Given the description of an element on the screen output the (x, y) to click on. 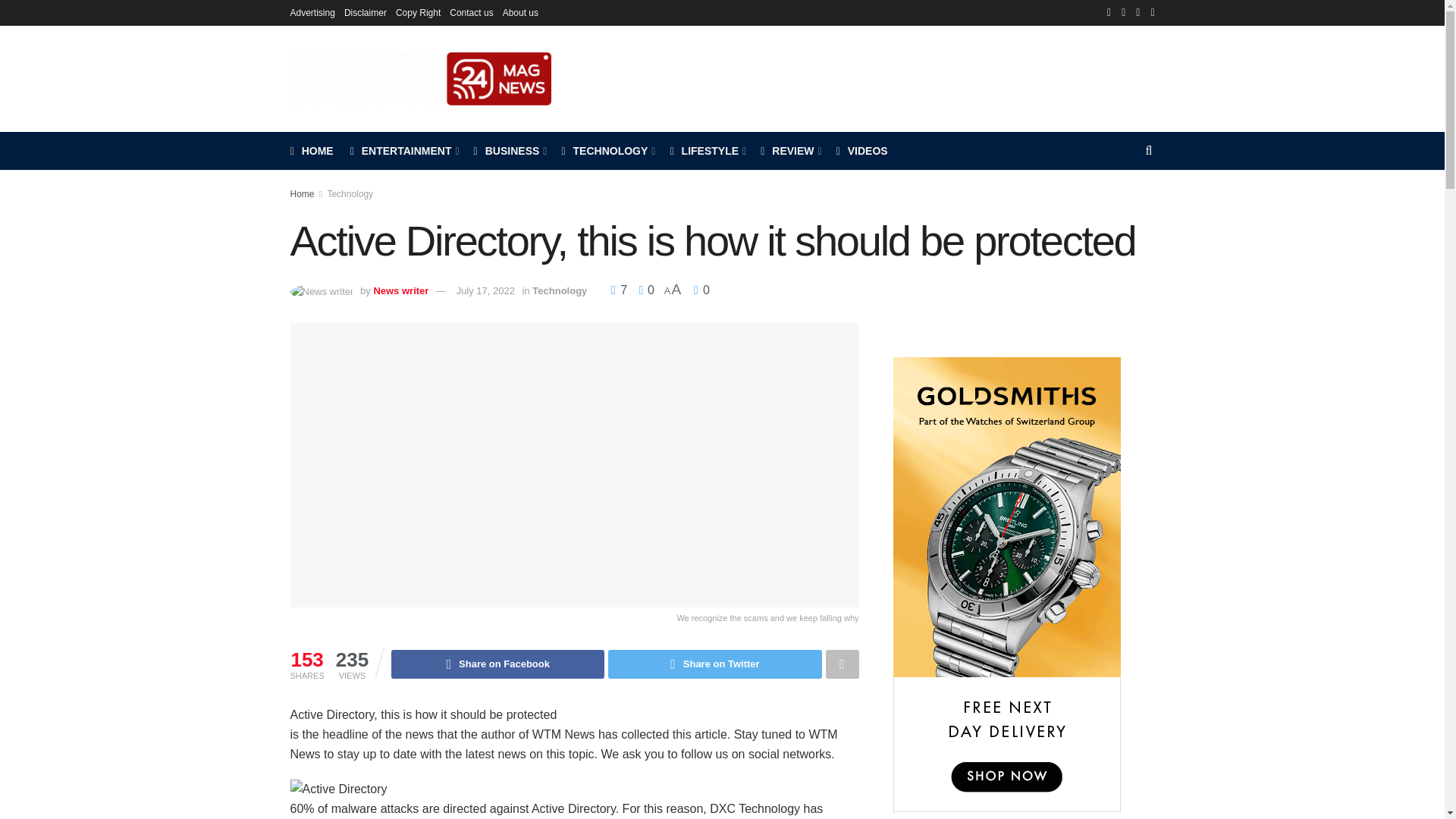
ENTERTAINMENT (403, 150)
Copy Right (418, 12)
Disclaimer (365, 12)
Advertising (311, 12)
Active Directory, this is how it should be protected (338, 789)
About us (520, 12)
Contact us (471, 12)
HOME (311, 150)
BUSINESS (509, 150)
